Given the description of an element on the screen output the (x, y) to click on. 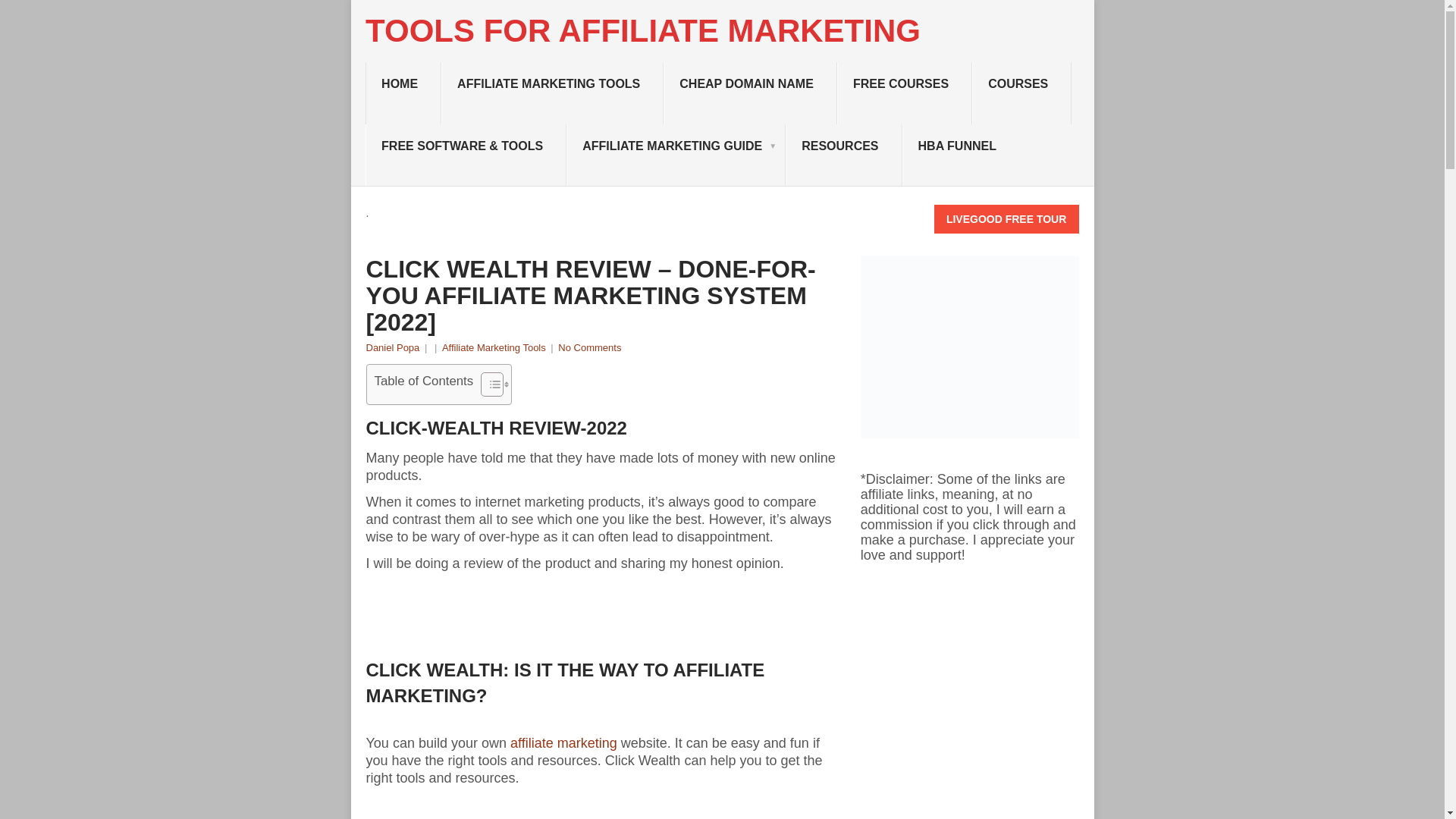
LIVEGOOD FREE TOUR (1006, 218)
AFFILIATE MARKETING GUIDE (676, 155)
COURSES (1021, 93)
AFFILIATE MARKETING TOOLS (552, 93)
Posts by Daniel Popa (392, 347)
No Comments (589, 347)
CHEAP DOMAIN NAME (750, 93)
Daniel Popa (392, 347)
affiliate marketing (564, 743)
HBA FUNNEL (960, 155)
